Given the description of an element on the screen output the (x, y) to click on. 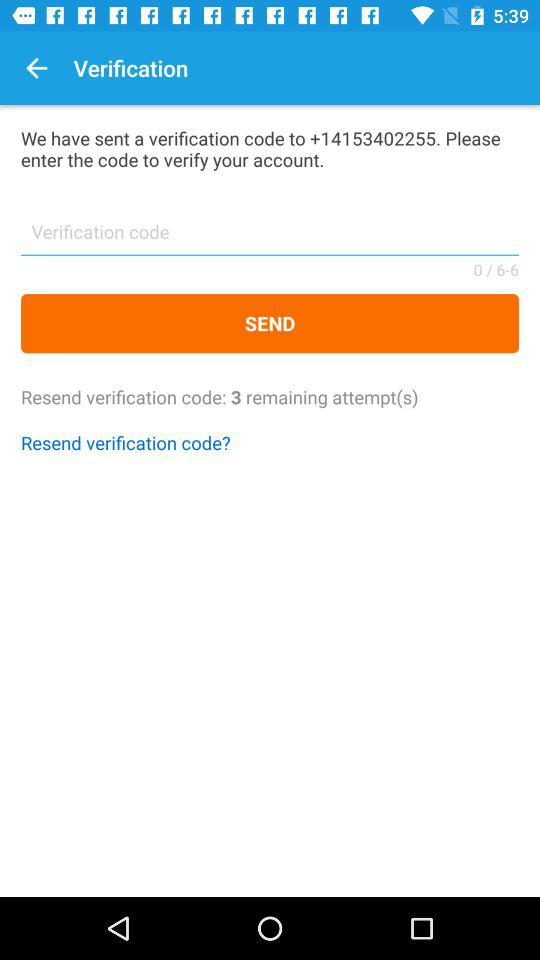
open icon above we have sent icon (36, 67)
